Given the description of an element on the screen output the (x, y) to click on. 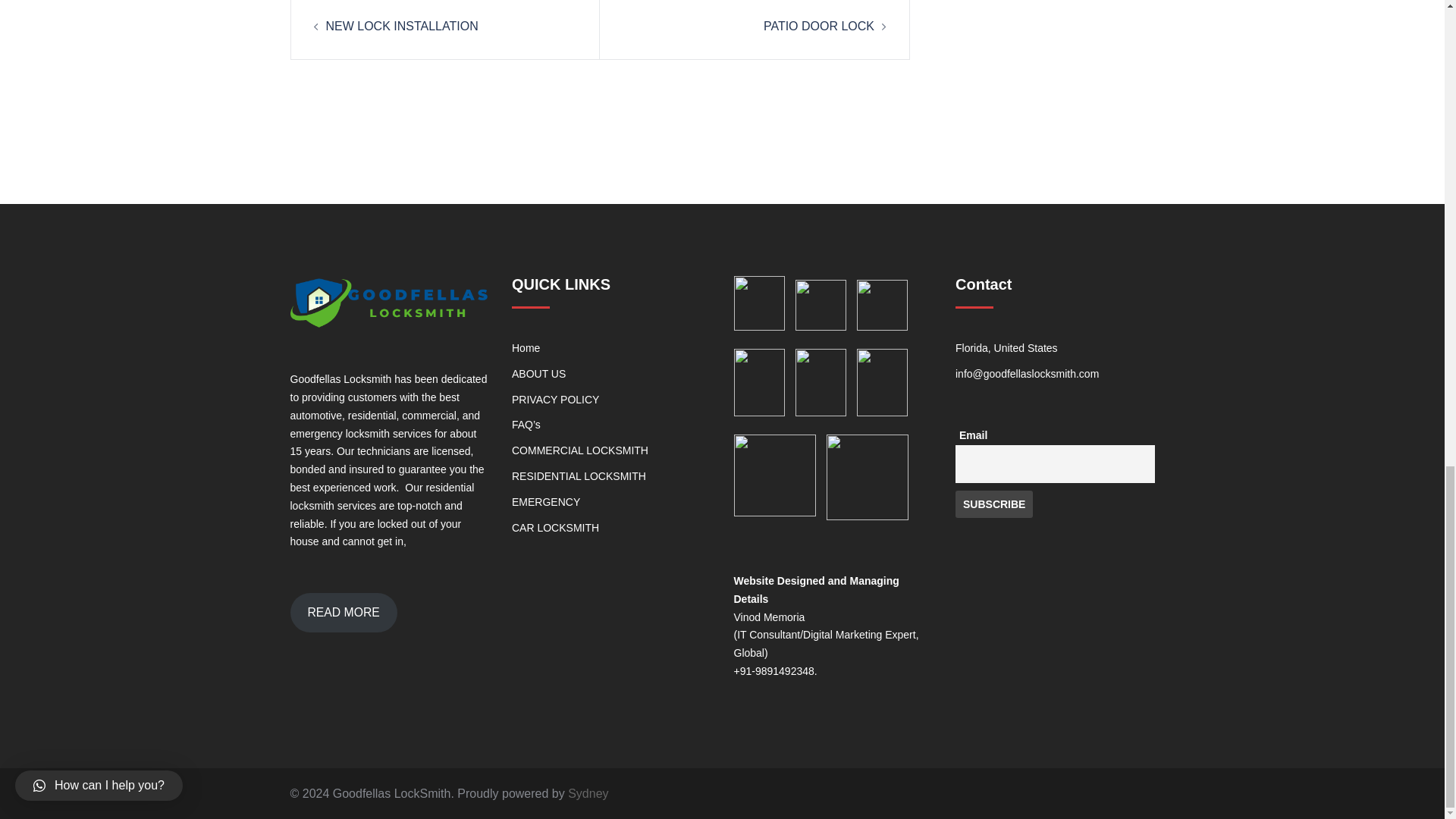
Subscribe (993, 503)
